Given the description of an element on the screen output the (x, y) to click on. 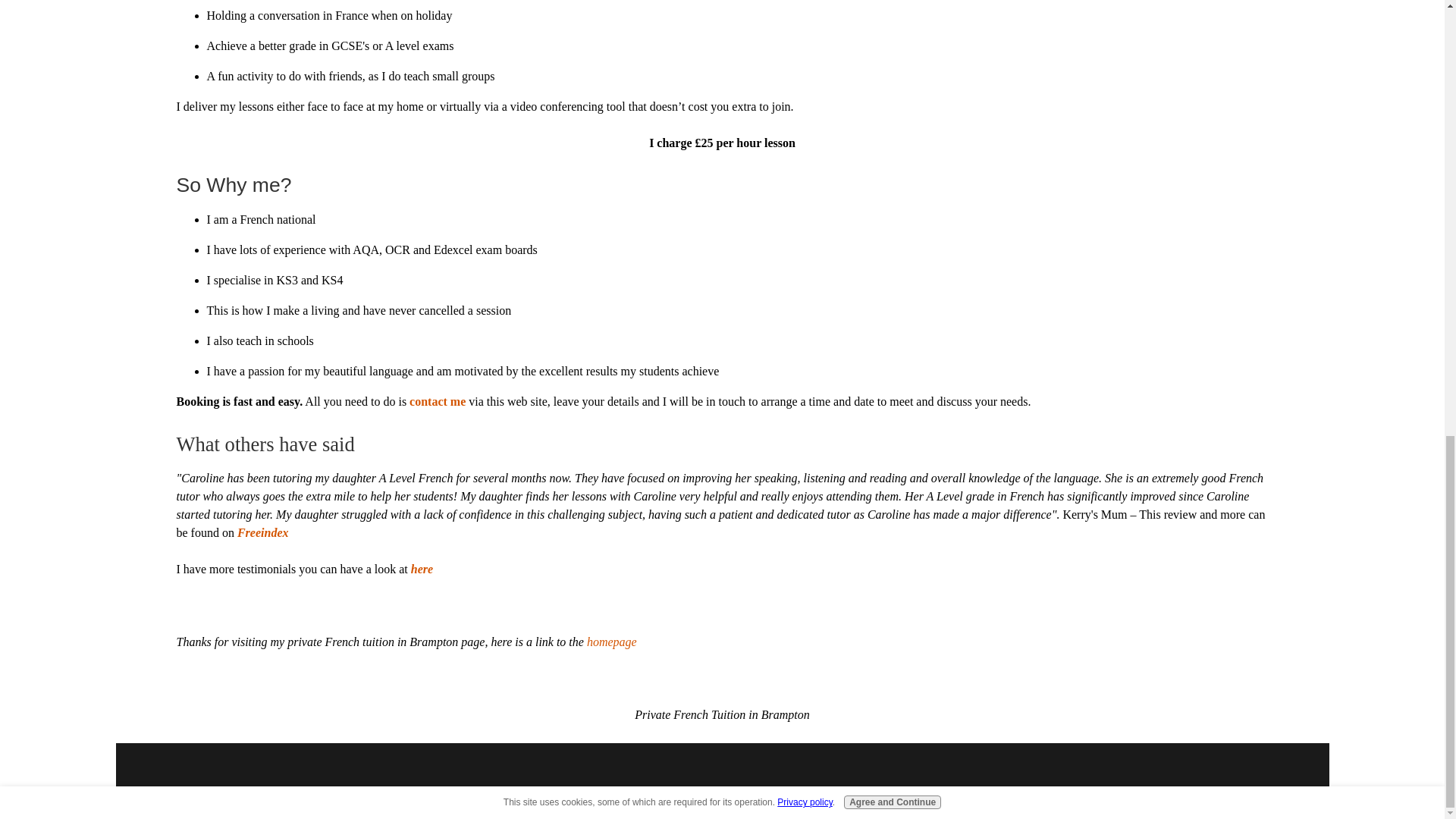
homepage (611, 641)
here (421, 568)
contact me (437, 400)
Freeindex (262, 532)
